Given the description of an element on the screen output the (x, y) to click on. 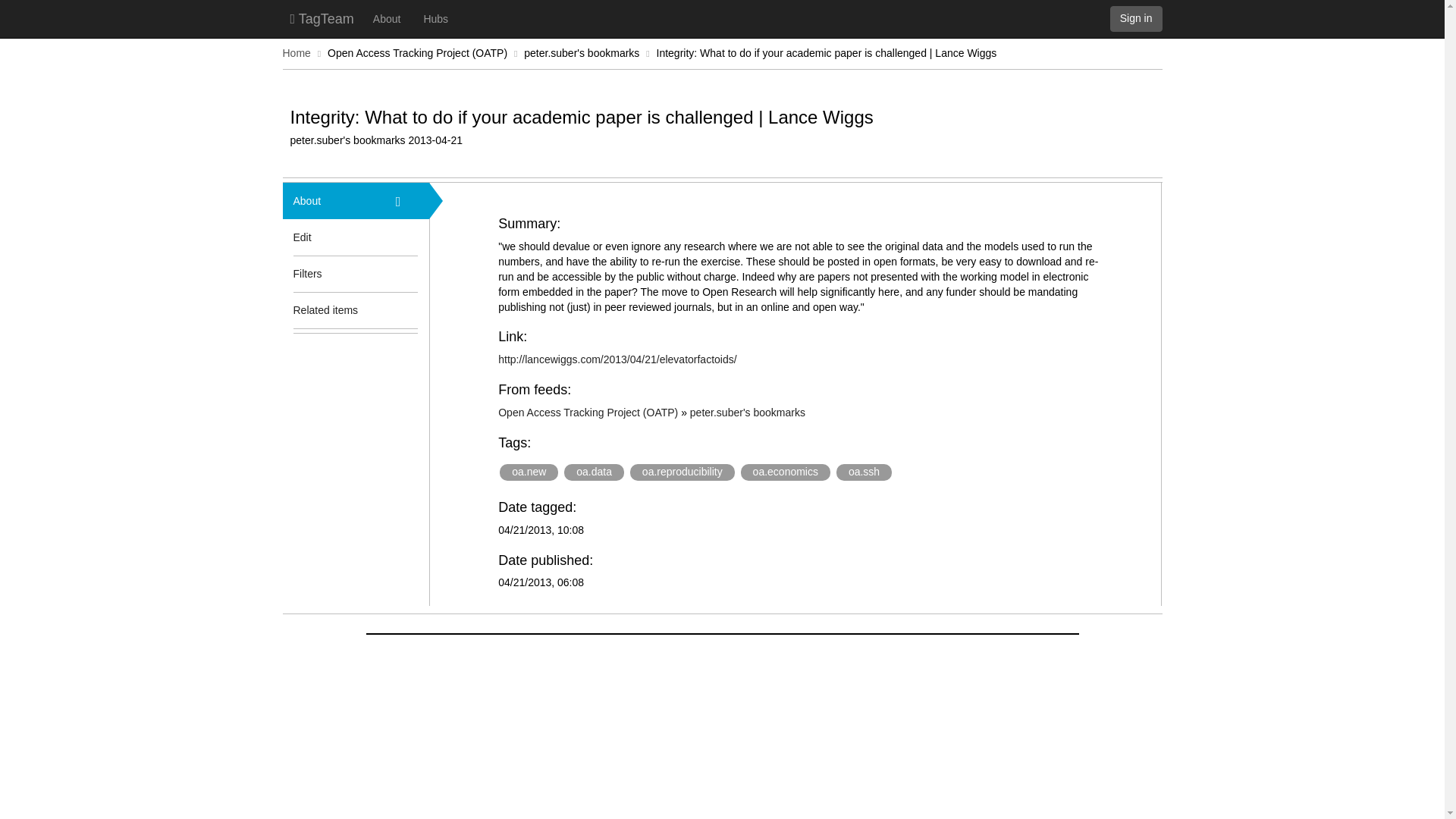
About (386, 18)
Sign in (1135, 18)
Edit (301, 237)
peter.suber's bookmarks (747, 412)
oa.data (594, 472)
oa.new (528, 472)
About (333, 200)
TagTeam (321, 18)
Item-level tag filters (407, 273)
Filters (333, 273)
Items related to this feed item (407, 309)
Related items (333, 309)
oa.reproducibility (682, 472)
Home (296, 52)
peter.suber's bookmarks (581, 52)
